Given the description of an element on the screen output the (x, y) to click on. 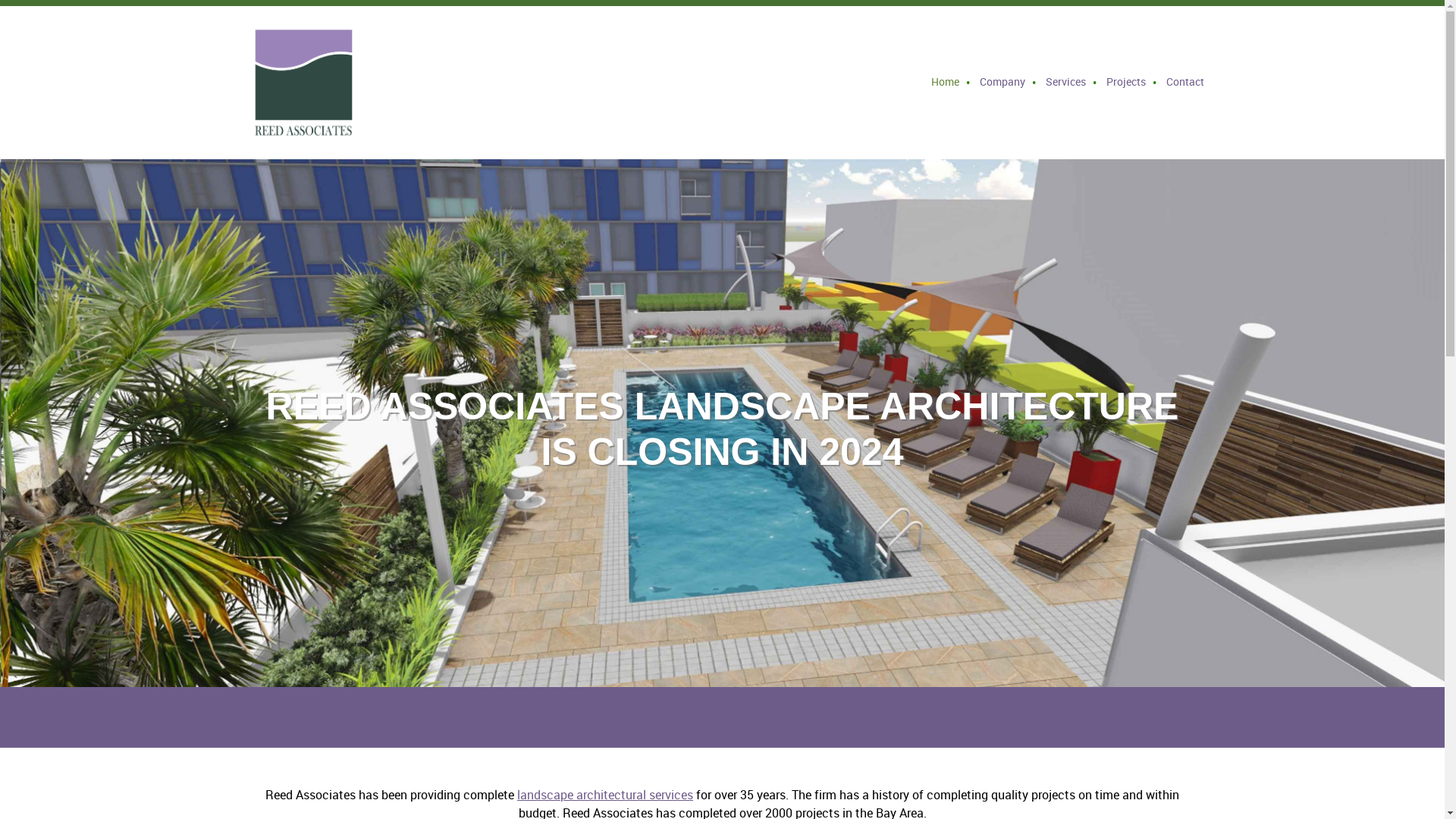
Company (1003, 82)
Projects (1126, 82)
Services (1065, 82)
Home (945, 82)
Contact (1180, 82)
Company (1003, 82)
Go to site home page (307, 82)
Contact (1180, 82)
Home (945, 82)
Services (1065, 82)
landscape architectural services (604, 794)
Projects (1126, 82)
